Given the description of an element on the screen output the (x, y) to click on. 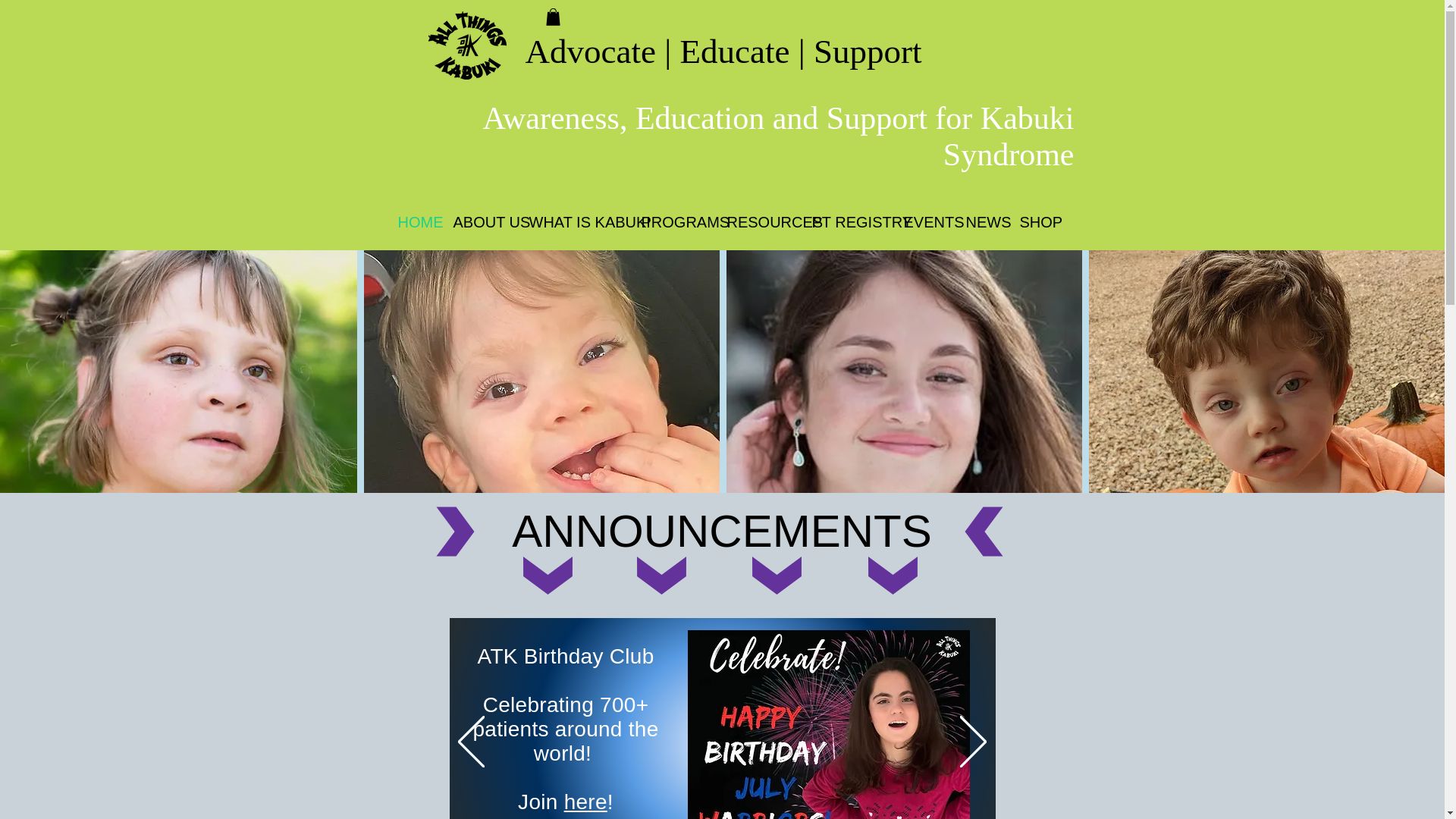
WHAT IS KABUKI (572, 222)
RESOURCES (758, 222)
Donate Button (1022, 59)
PROGRAMS (671, 222)
ABOUT US (478, 222)
HOME (414, 222)
